Given the description of an element on the screen output the (x, y) to click on. 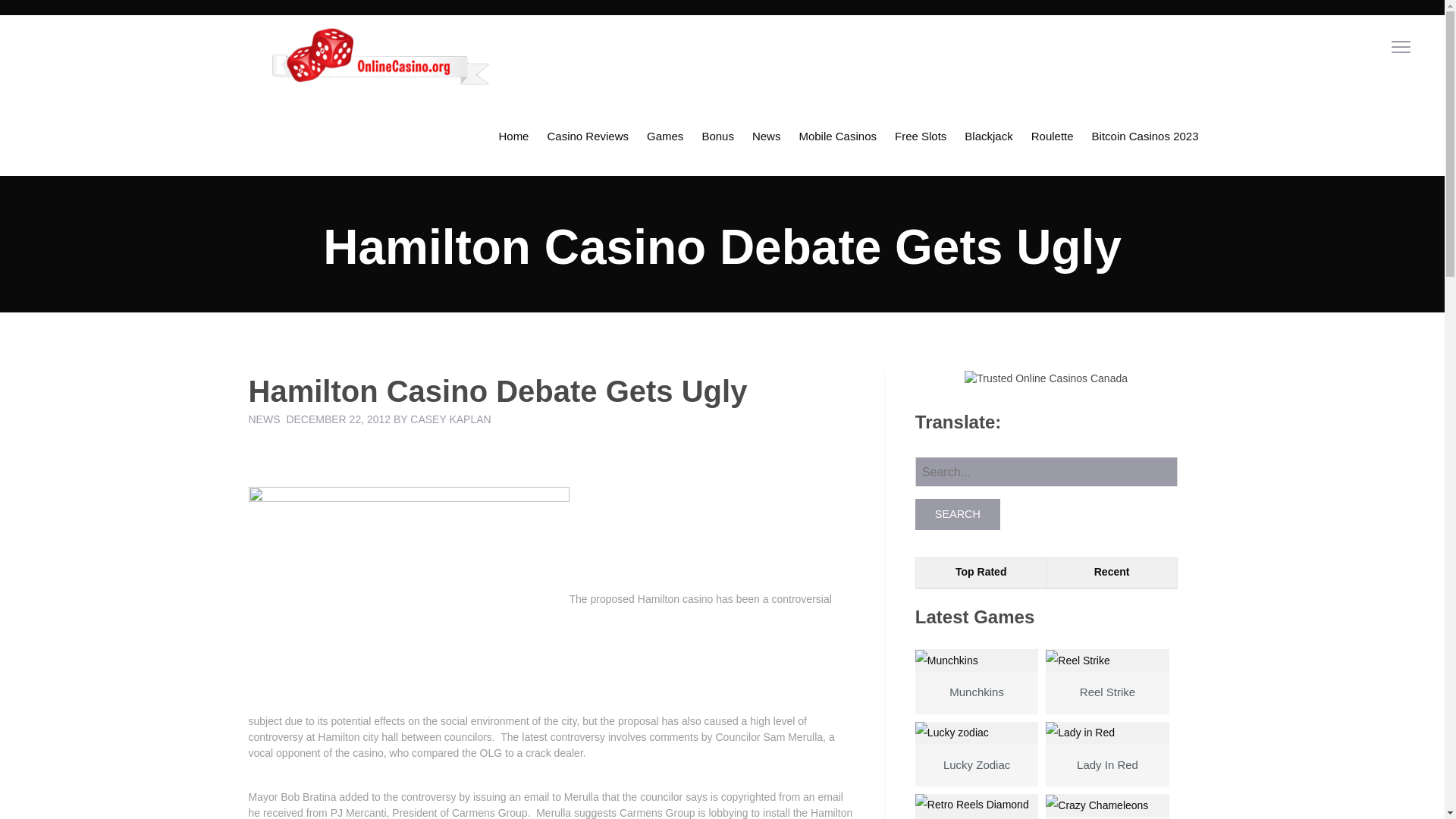
Search (957, 513)
Bitcoin Casinos 2023 (1145, 136)
Casino Reviews (587, 136)
Online Casino Reviews (587, 136)
Mobile Casinos (837, 136)
Search for: (1046, 471)
Search (957, 513)
mobile casinos (837, 136)
Posts by Casey Kaplan (450, 419)
NEWS (264, 419)
